Given the description of an element on the screen output the (x, y) to click on. 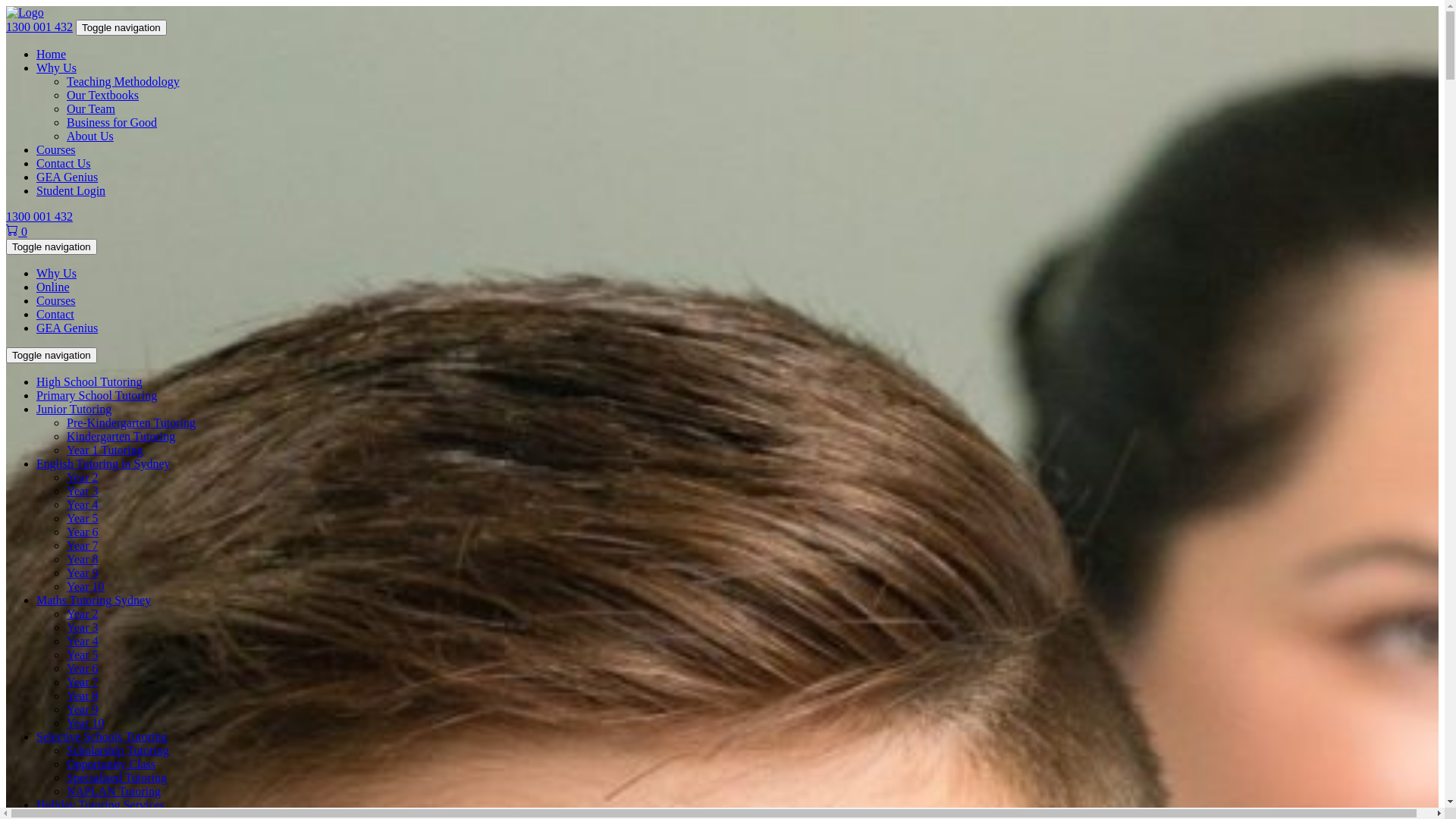
Our Textbooks Element type: text (102, 94)
0 Element type: text (16, 231)
Toggle navigation Element type: text (120, 27)
Student Login Element type: text (70, 190)
High School Tutoring Element type: text (89, 381)
Holiday Tutoring Services Element type: text (100, 804)
Junior Tutoring Element type: text (73, 408)
Maths Tutoring Sydney Element type: text (93, 599)
Year 6 Element type: text (81, 531)
Toggle navigation Element type: text (51, 246)
Year 10 Element type: text (84, 586)
Year 3 Element type: text (81, 627)
Courses Element type: text (55, 149)
Contact Us Element type: text (63, 162)
Why Us Element type: text (56, 272)
Online Element type: text (52, 286)
Year 10 Element type: text (84, 722)
Year 5 Element type: text (81, 517)
Primary School Tutoring Element type: text (96, 395)
Toggle navigation Element type: text (51, 355)
GEA Genius Element type: text (66, 176)
Why Us Element type: text (56, 67)
Year 7 Element type: text (81, 545)
English Tutoring in Sydney Element type: text (102, 463)
Year 4 Element type: text (81, 640)
Year 9 Element type: text (81, 708)
Year 6 Element type: text (81, 668)
Home Element type: text (50, 53)
GEA Genius Element type: text (66, 327)
Year 2 Element type: text (81, 476)
Year 7 Element type: text (81, 681)
Pre-Kindergarten Tutoring Element type: text (130, 422)
Scholarship Tutoring Element type: text (117, 749)
Business for Good Element type: text (111, 122)
Year 8 Element type: text (81, 695)
NAPLAN Tutoring Element type: text (113, 790)
Year 2 Element type: text (81, 613)
1300 001 432 Element type: text (39, 26)
Kindergarten Tutoring Element type: text (120, 435)
Selective Schools Tutoring Element type: text (101, 736)
1300 001 432 Element type: text (39, 216)
Contact Element type: text (55, 313)
Year 3 Element type: text (81, 490)
Opportunity Class Element type: text (110, 763)
Year 5 Element type: text (81, 654)
About Us Element type: text (89, 135)
Specialised Tutoring Element type: text (116, 777)
Year 9 Element type: text (81, 572)
Our Team Element type: text (90, 108)
Courses Element type: text (55, 300)
Year 4 Element type: text (81, 504)
Year 1 Tutoring Element type: text (104, 449)
Teaching Methodology Element type: text (122, 81)
Year 8 Element type: text (81, 558)
